Given the description of an element on the screen output the (x, y) to click on. 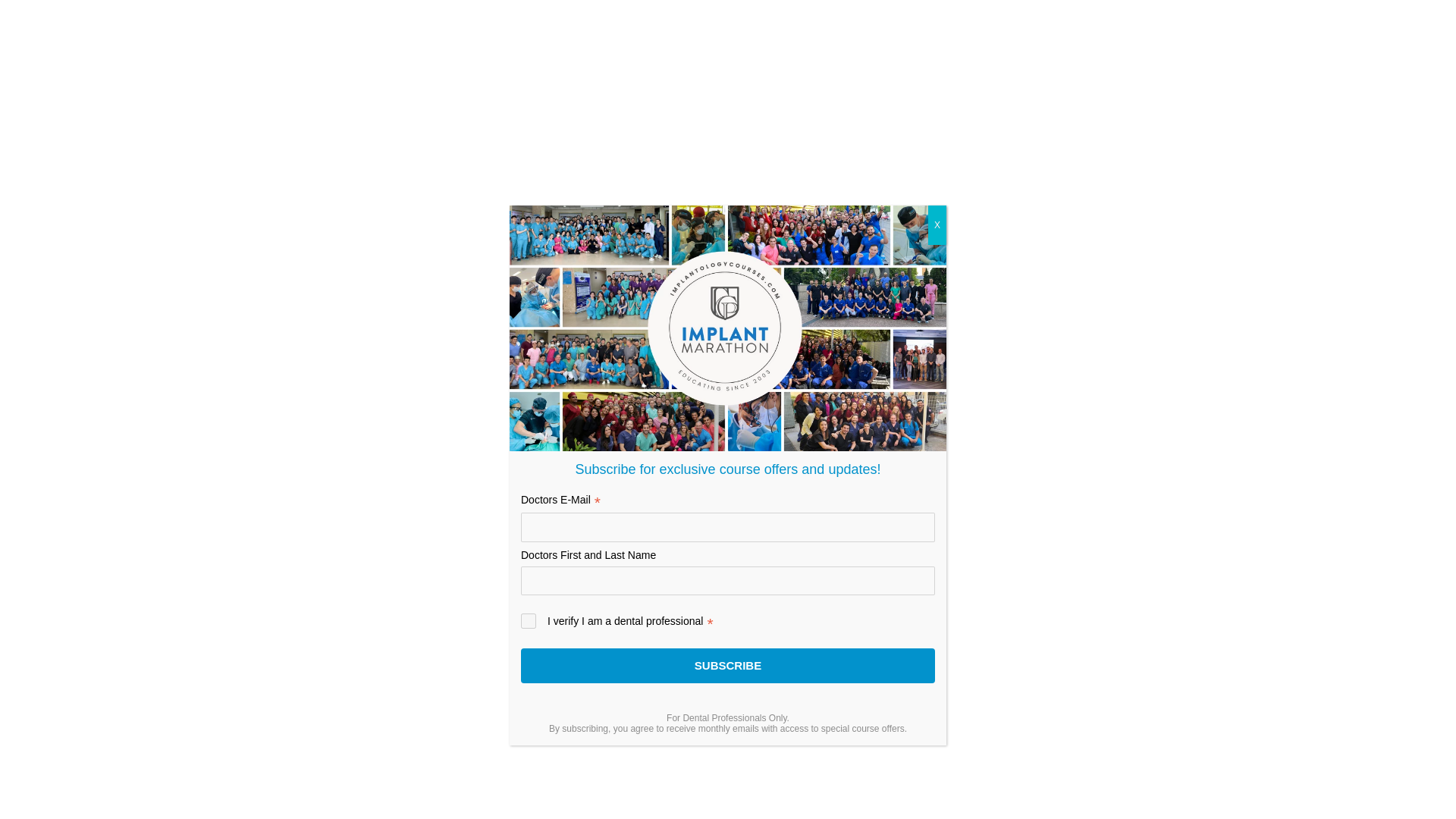
LEARN MORE (394, 806)
Contact (1000, 18)
Send a Message (320, 419)
About Us (644, 8)
Gallery (914, 14)
LEARN MORE (727, 806)
Home (556, 7)
LEARN MORE (1061, 806)
Register (825, 13)
Subscribe (727, 665)
Courses (737, 10)
